Given the description of an element on the screen output the (x, y) to click on. 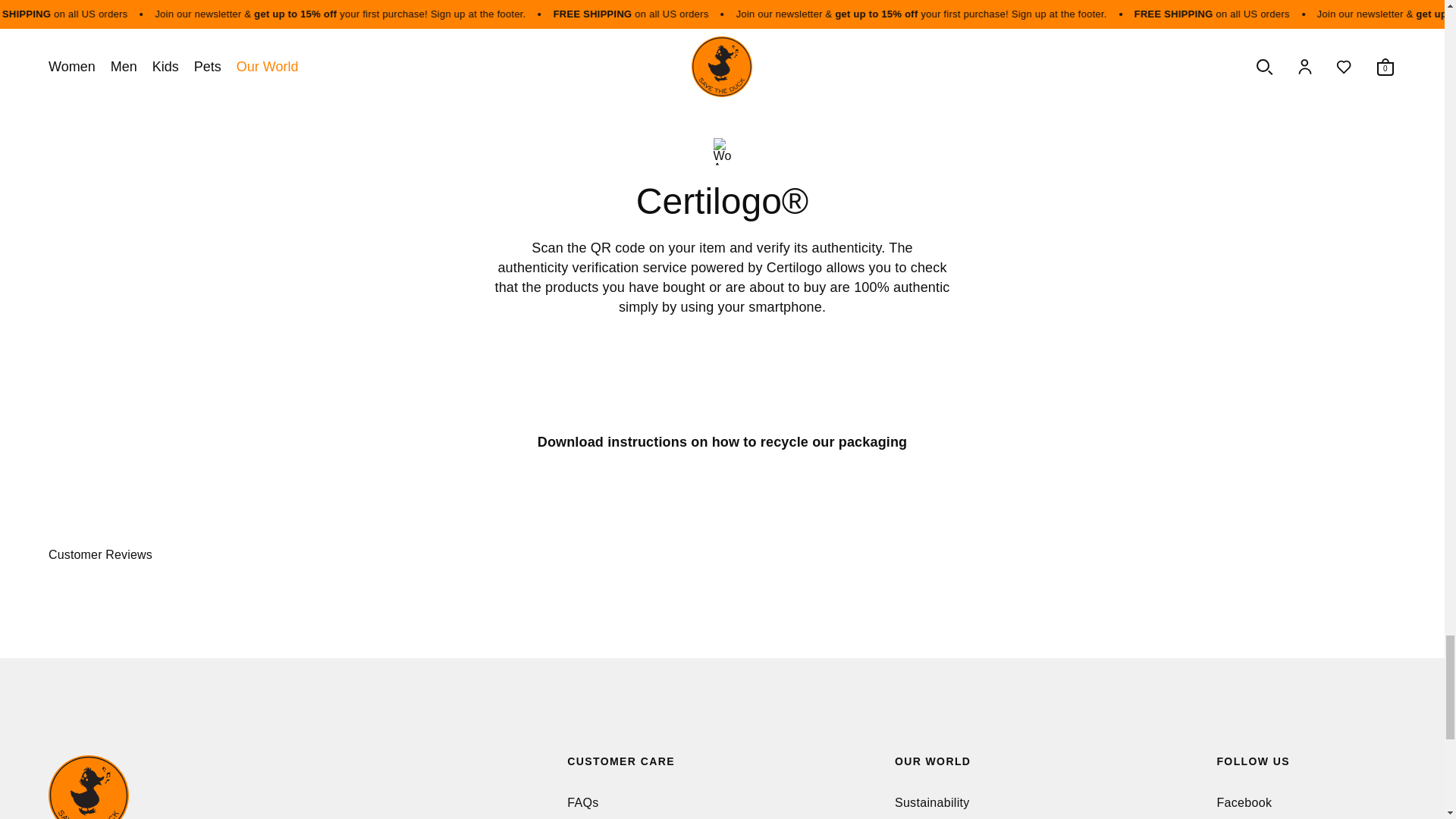
Save The Duck USA (248, 787)
